Given the description of an element on the screen output the (x, y) to click on. 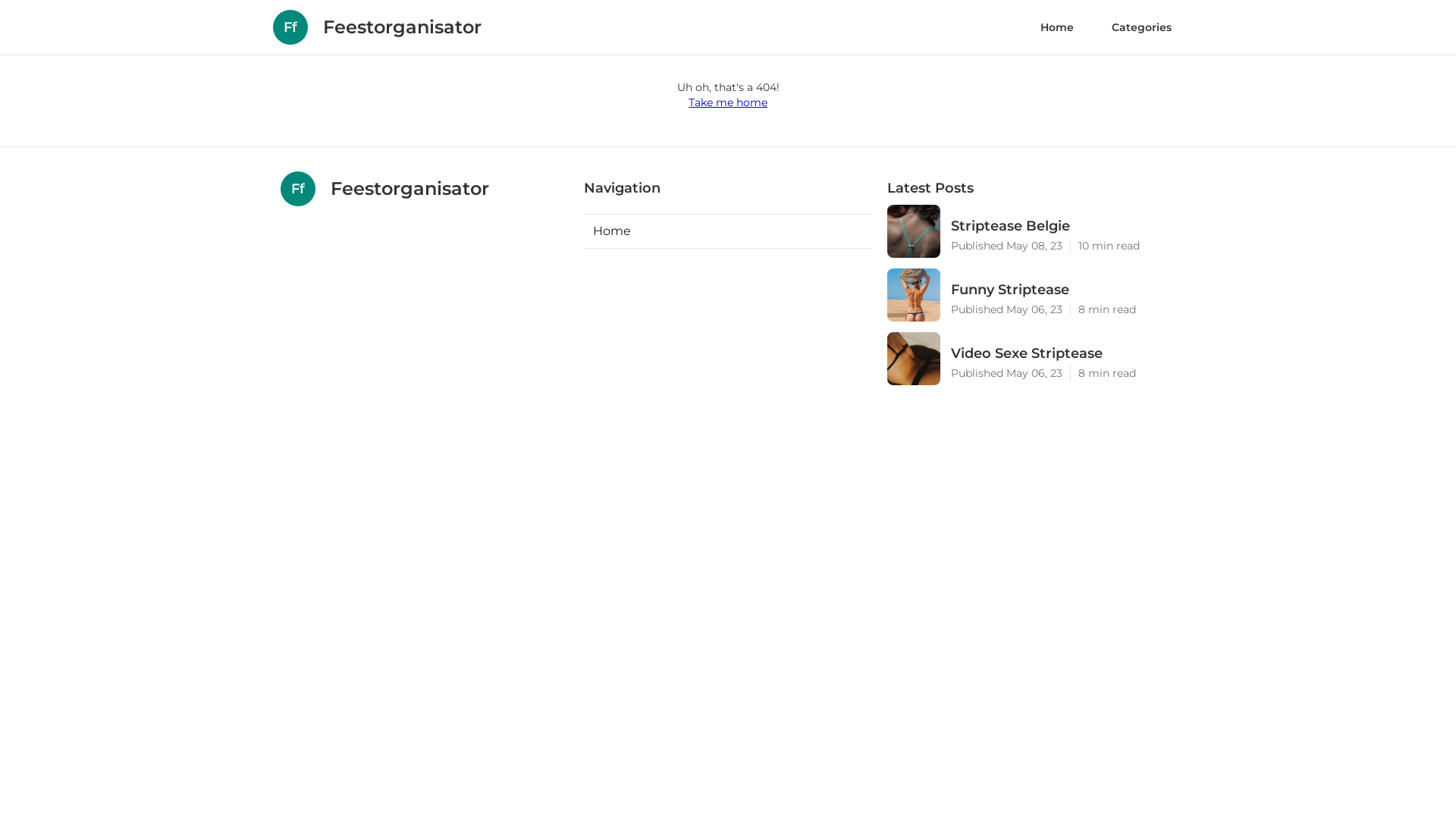
Striptease Belgie Element type: text (1062, 225)
Take me home Element type: text (727, 101)
Categories Element type: text (1141, 26)
Home Element type: text (1057, 26)
Funny Striptease Element type: text (1062, 289)
Home Element type: text (727, 230)
Video Sexe Striptease Element type: text (1062, 353)
